Given the description of an element on the screen output the (x, y) to click on. 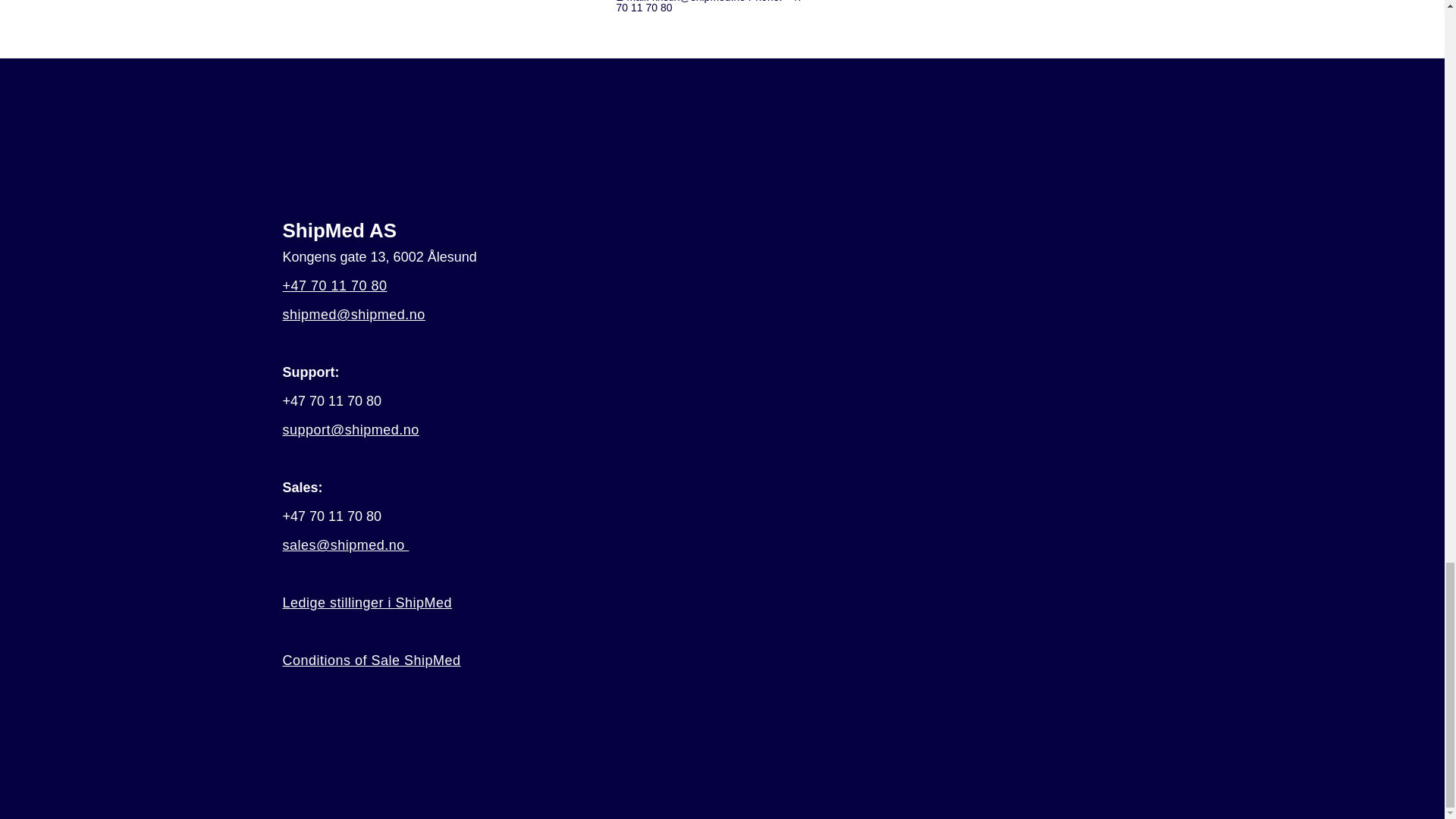
Ledige stillinger i Ship Med (366, 602)
Ledige stillinger i ShipMed (366, 602)
Condition of Sale (371, 660)
Conditions of Sale ShipMed (371, 660)
